Given the description of an element on the screen output the (x, y) to click on. 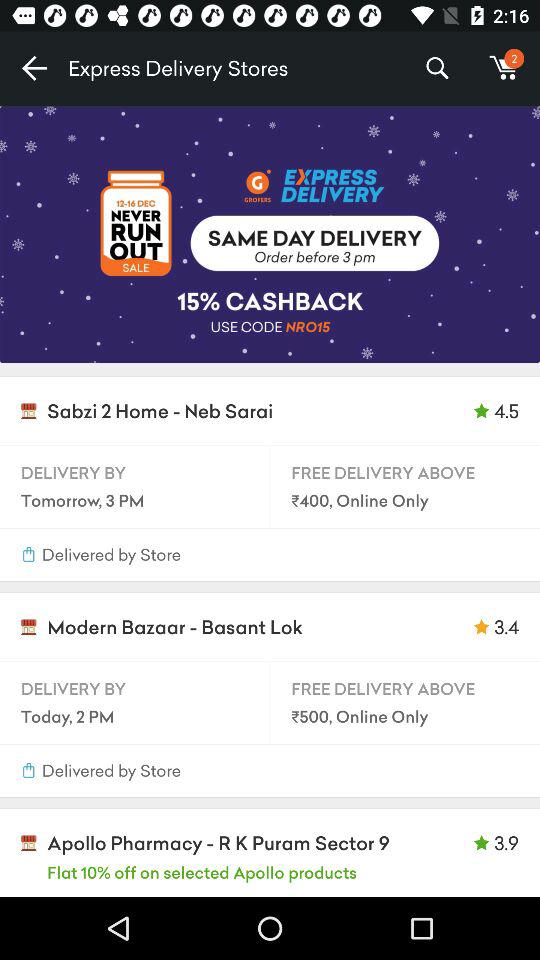
scroll until the m (503, 67)
